Given the description of an element on the screen output the (x, y) to click on. 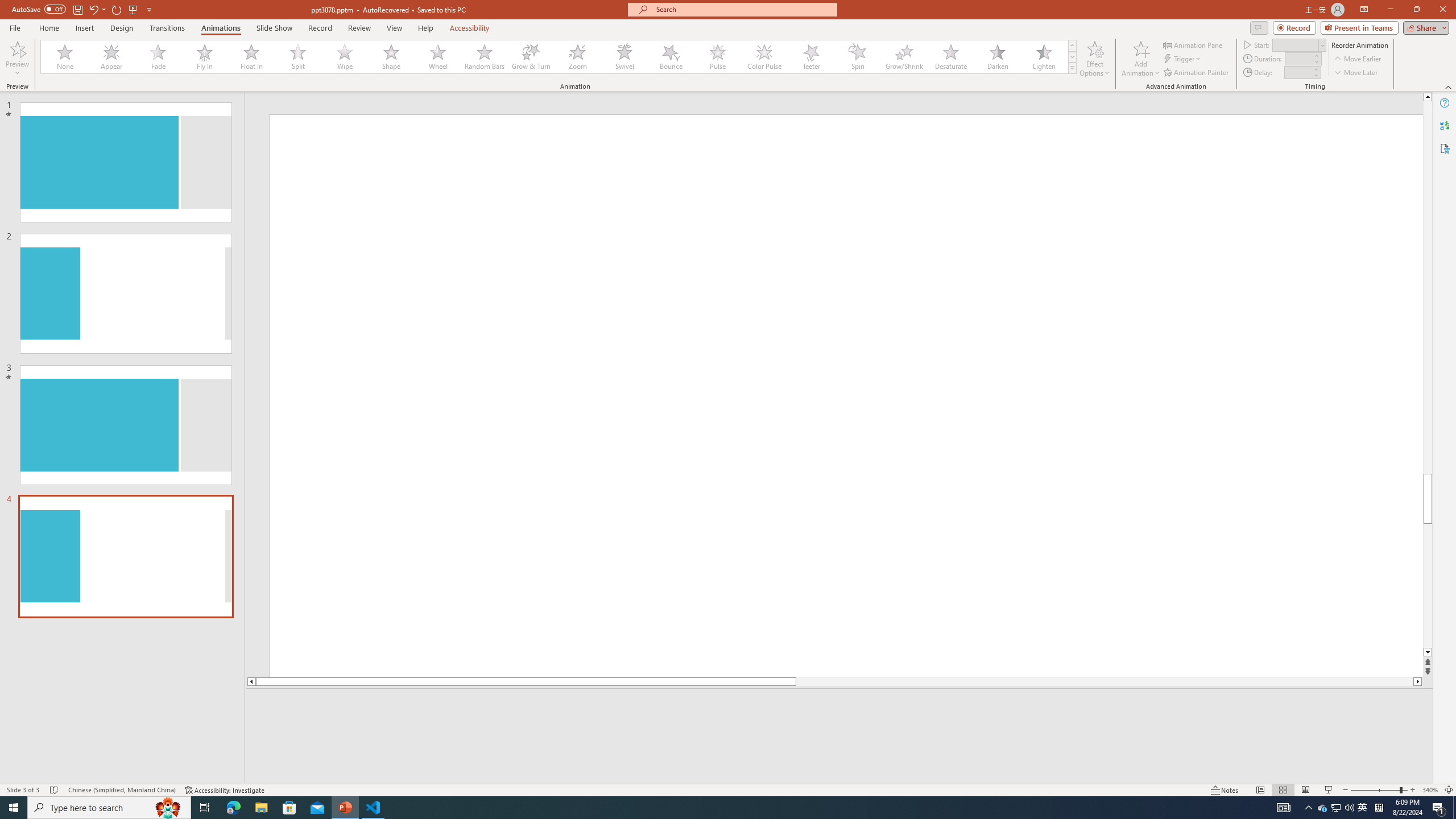
Fly In (205, 56)
Effect Options (1094, 58)
Wheel (437, 56)
Wipe (344, 56)
Spin (857, 56)
Trigger (1182, 58)
